Given the description of an element on the screen output the (x, y) to click on. 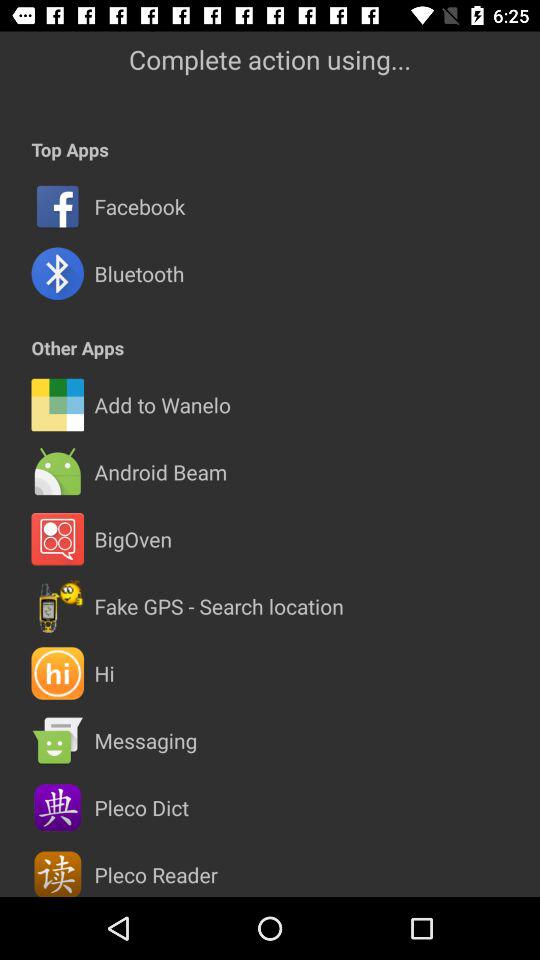
press the add to wanelo (162, 404)
